Given the description of an element on the screen output the (x, y) to click on. 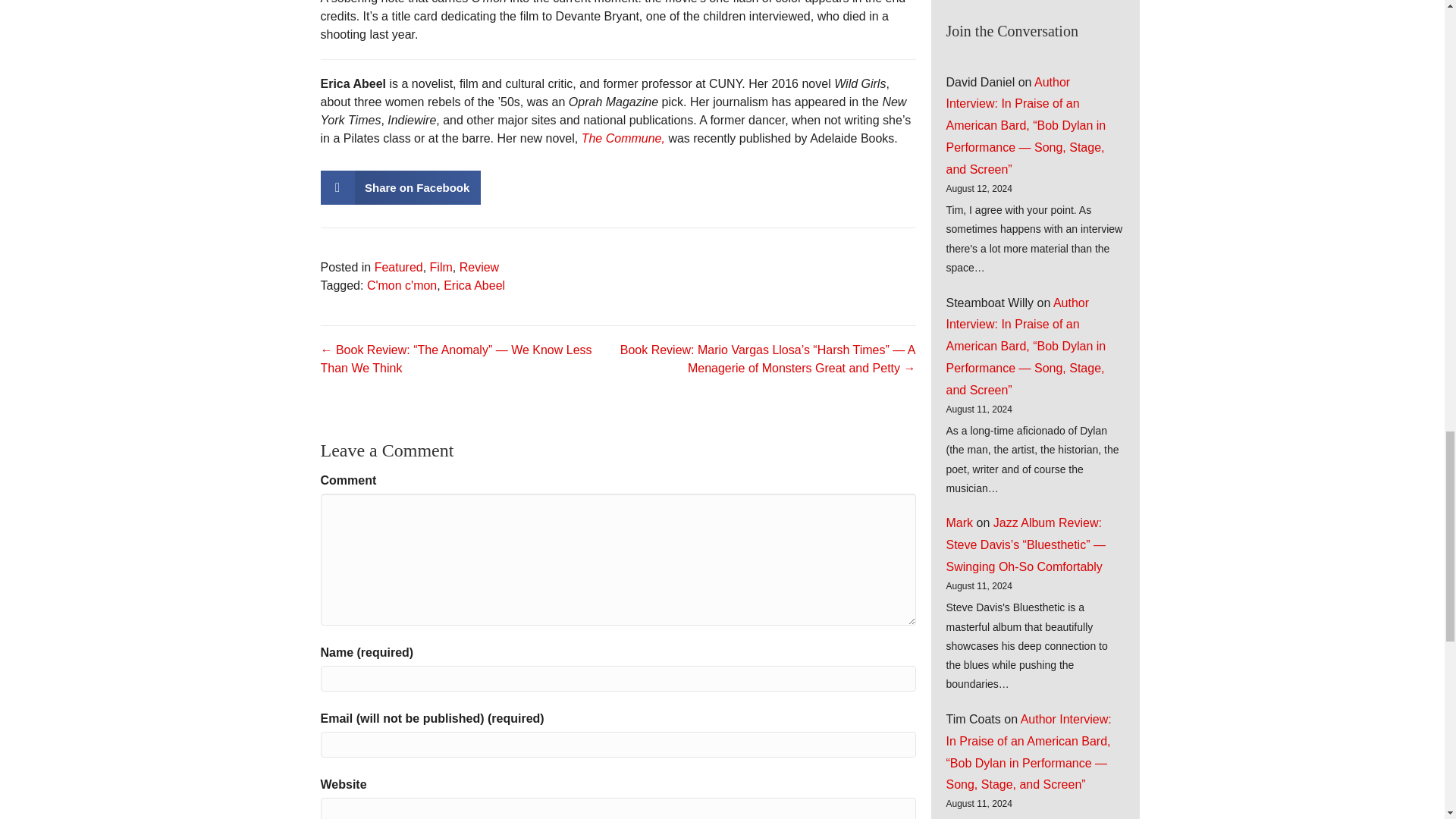
Review (479, 267)
Featured (398, 267)
C'mon c'mon (401, 285)
Film (440, 267)
The Commune, (622, 137)
Share on Facebook (400, 187)
Erica Abeel (474, 285)
